Given the description of an element on the screen output the (x, y) to click on. 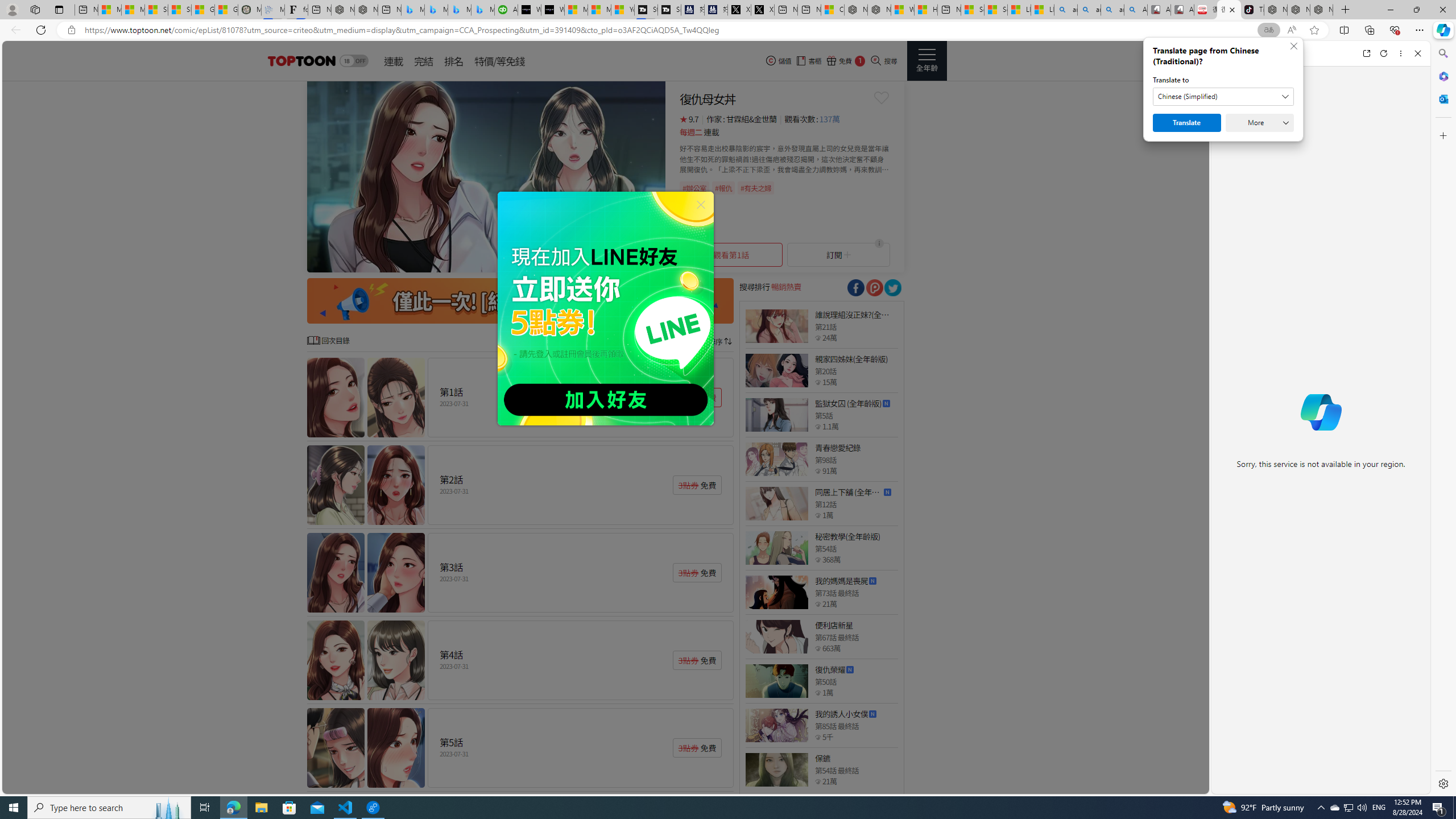
Microsoft Start Sports (575, 9)
Nordace - Siena Pro 15 Essential Set (1321, 9)
Outlook (1442, 98)
Nordace - Best Sellers (1275, 9)
Nordace Siena Pro 15 Backpack (1298, 9)
